Given the description of an element on the screen output the (x, y) to click on. 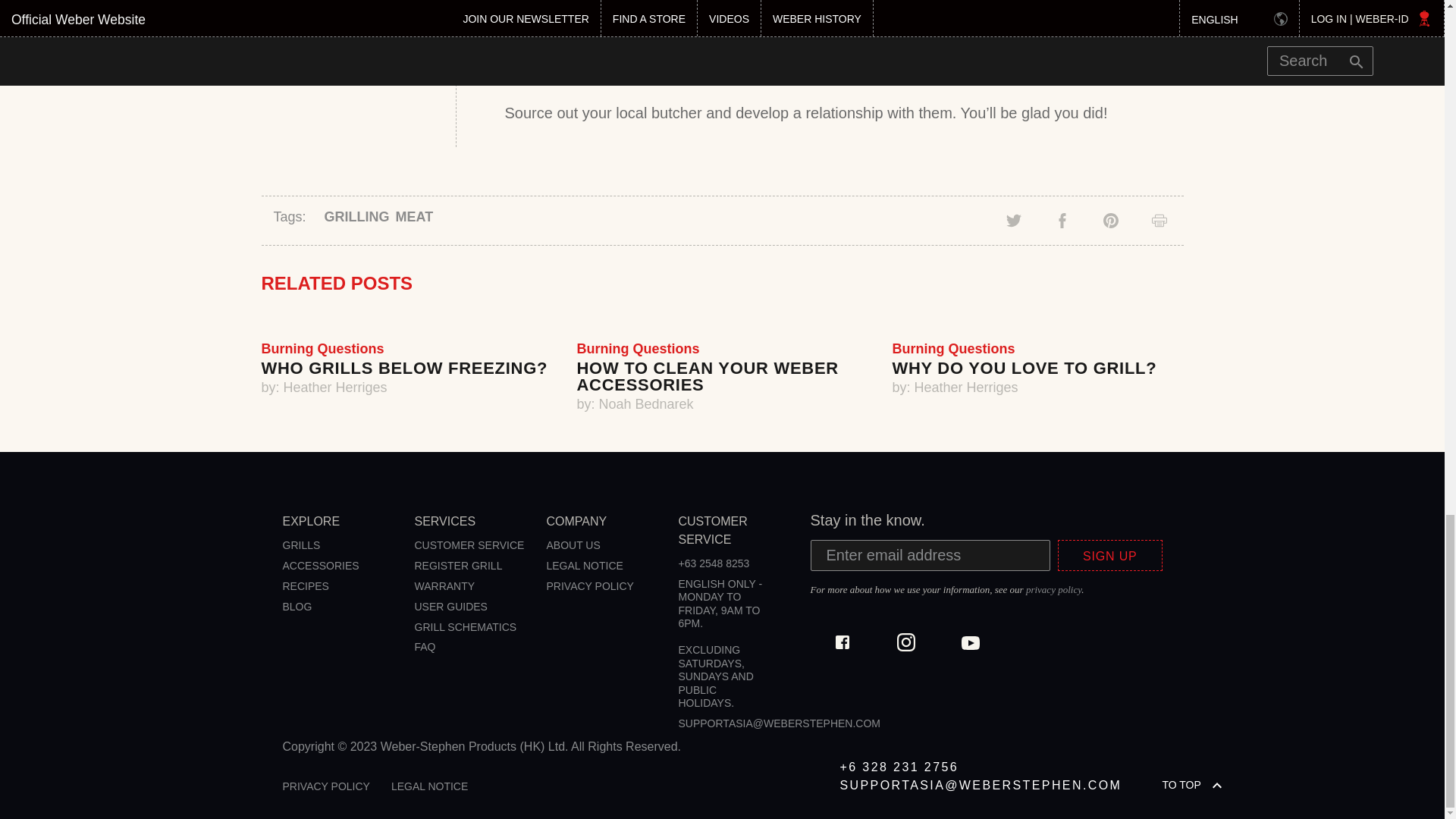
Print (1158, 220)
Twitter (1013, 220)
Facebook (1061, 220)
TO TOP (1237, 784)
Pinterest (1110, 220)
